Given the description of an element on the screen output the (x, y) to click on. 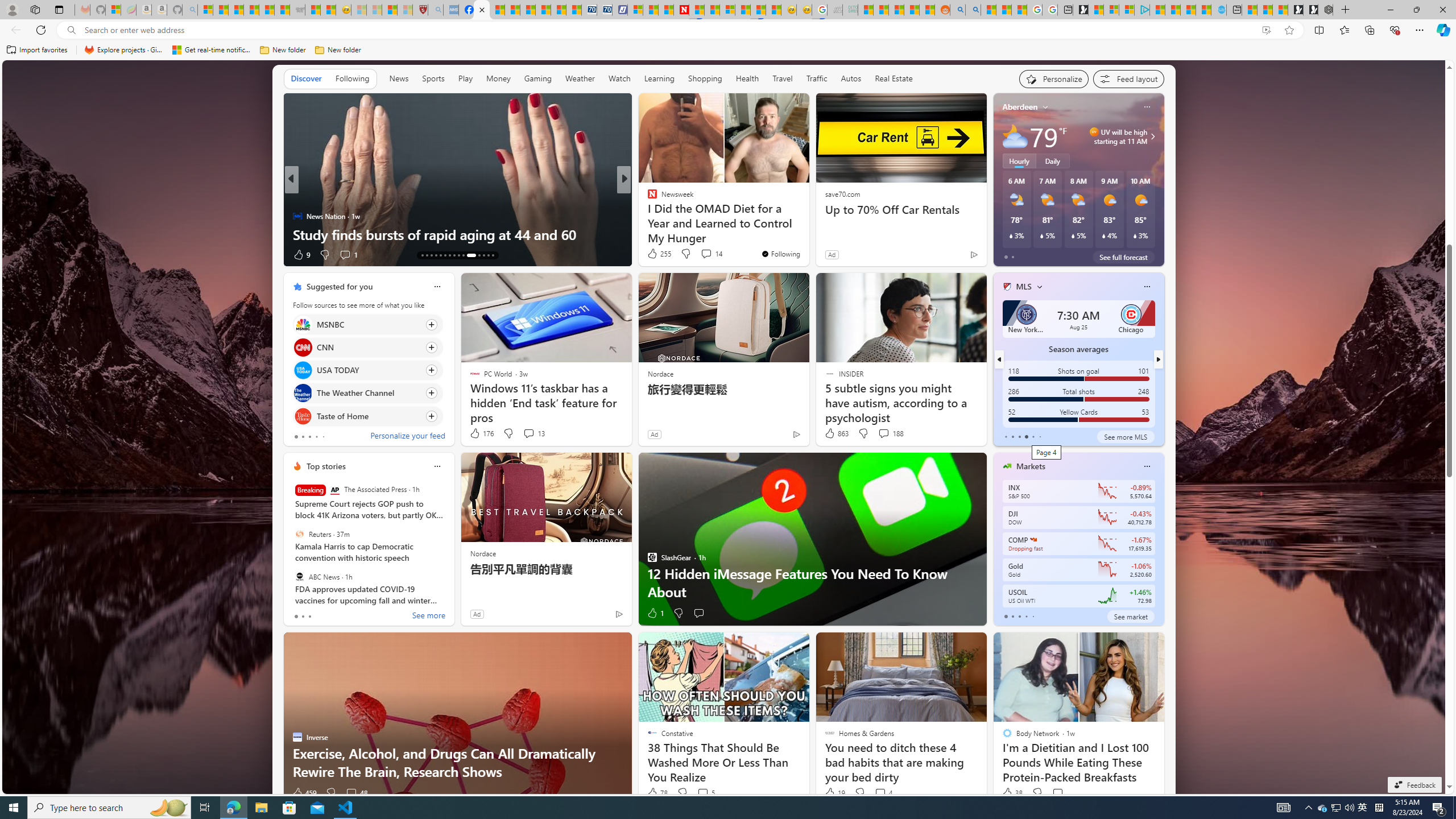
AutomationID: tab-74 (458, 255)
176 Like (480, 433)
BuzzFeed (647, 197)
14 Like (652, 254)
19 Like (834, 792)
